Given the description of an element on the screen output the (x, y) to click on. 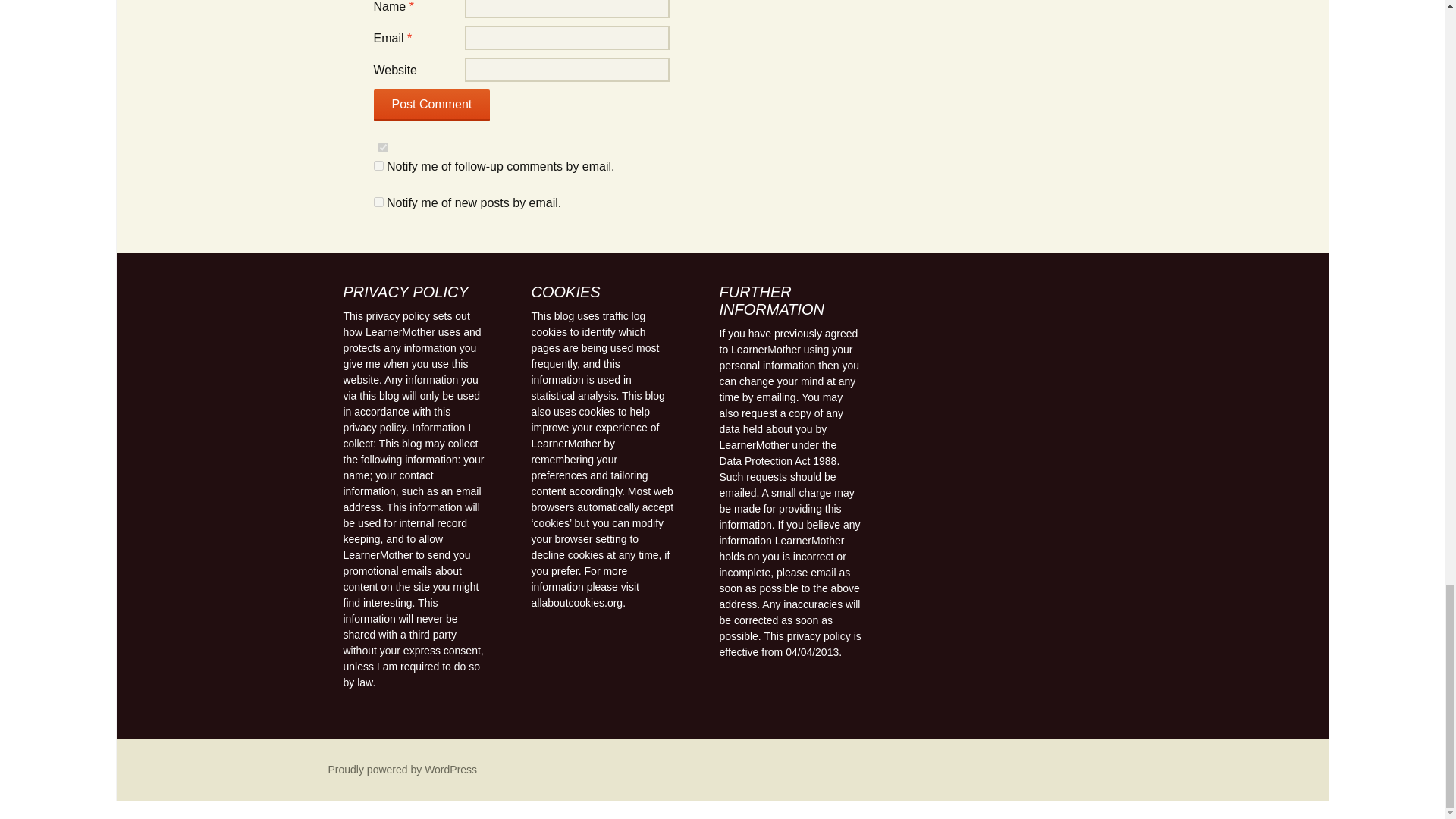
subscribe (377, 165)
on (381, 147)
Post Comment (430, 105)
subscribe (377, 202)
